Given the description of an element on the screen output the (x, y) to click on. 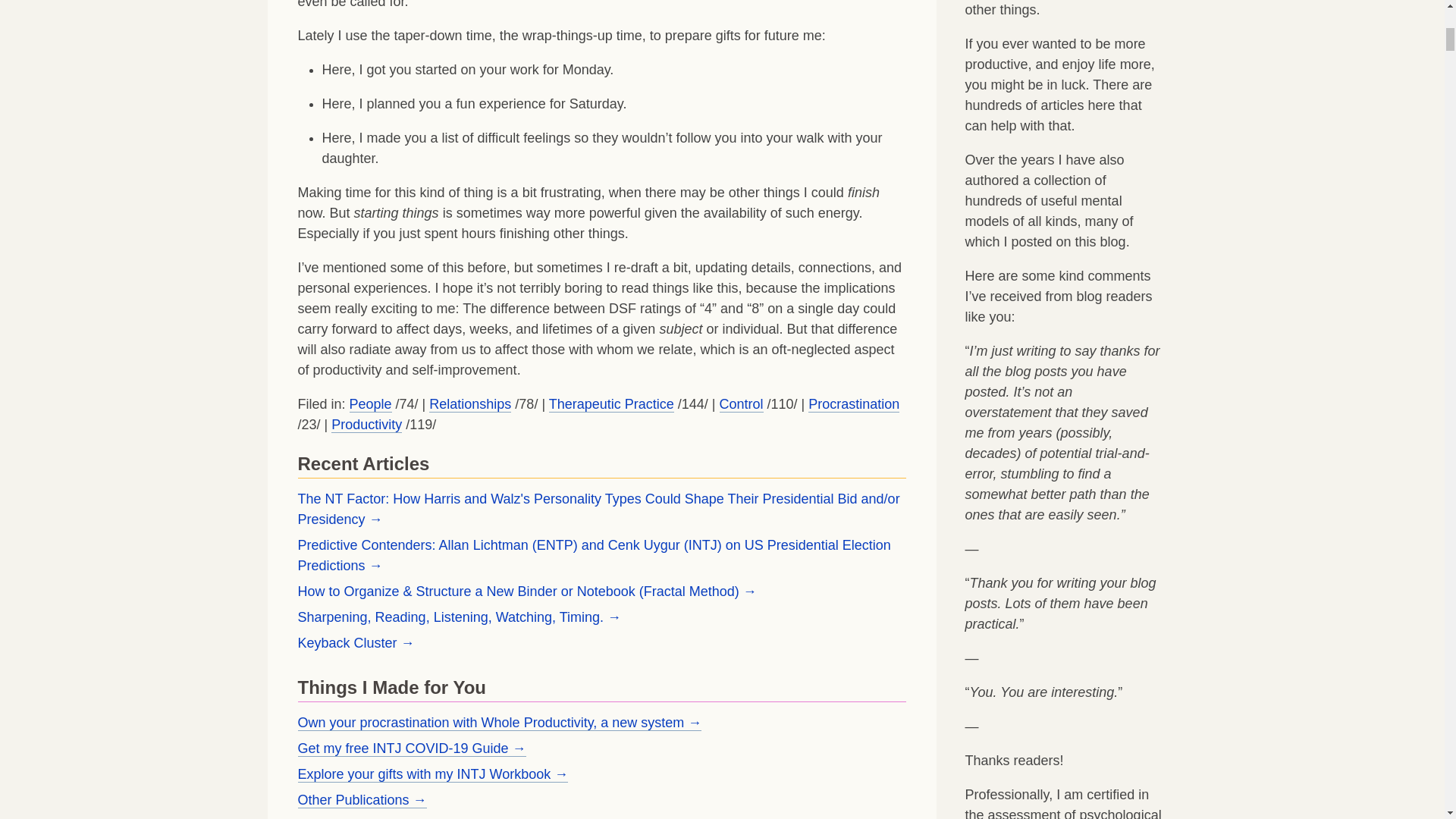
Procrastination (853, 404)
Control (740, 404)
People (370, 404)
Productivity (366, 424)
Therapeutic Practice (611, 404)
Relationships (470, 404)
